Given the description of an element on the screen output the (x, y) to click on. 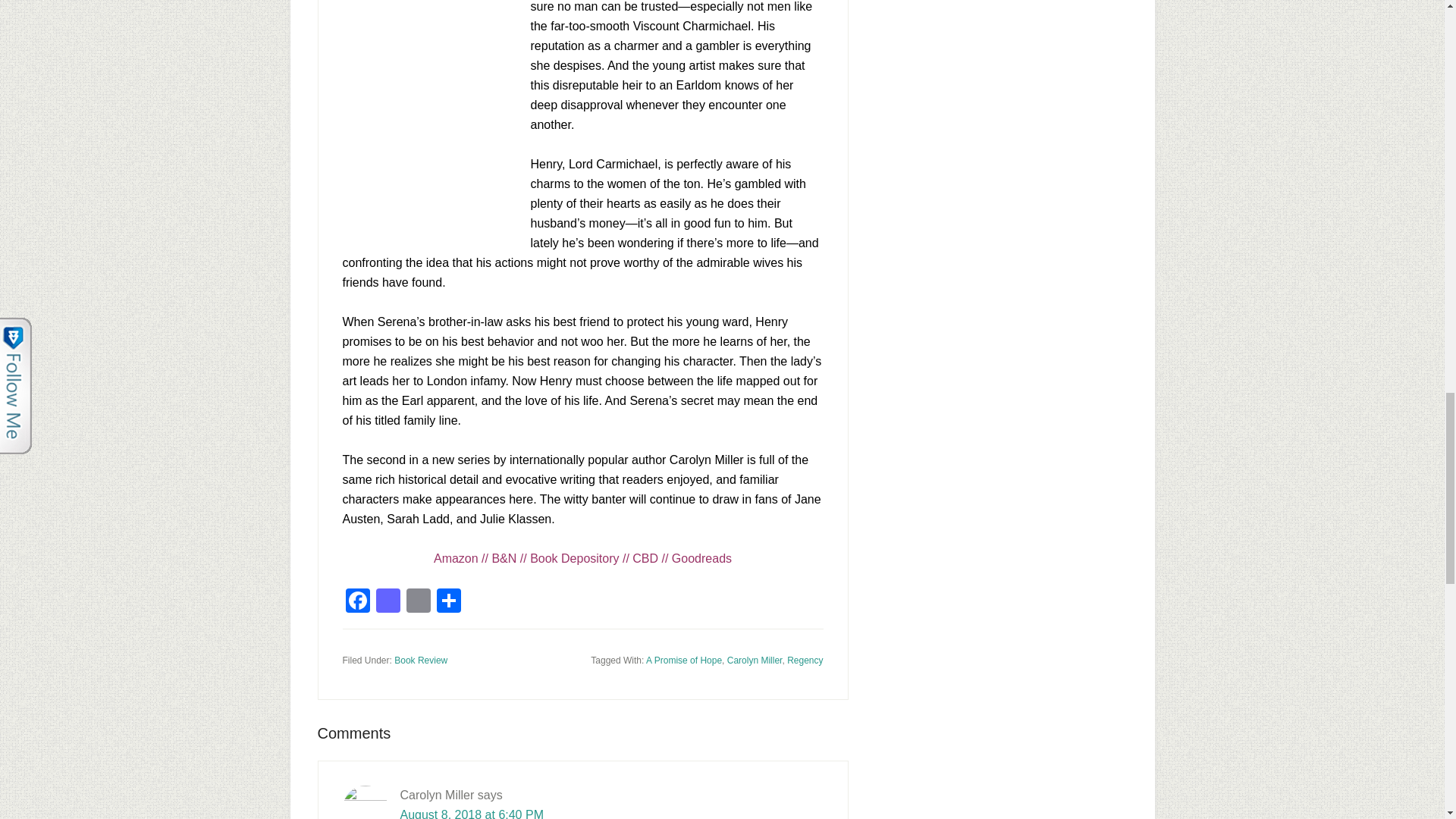
CBD (644, 558)
Book Review (420, 660)
Share (448, 602)
August 8, 2018 at 6:40 PM (471, 813)
Carolyn Miller (754, 660)
A Promise of Hope (684, 660)
Email (418, 602)
Mastodon (387, 602)
Email (418, 602)
Regency (804, 660)
